Given the description of an element on the screen output the (x, y) to click on. 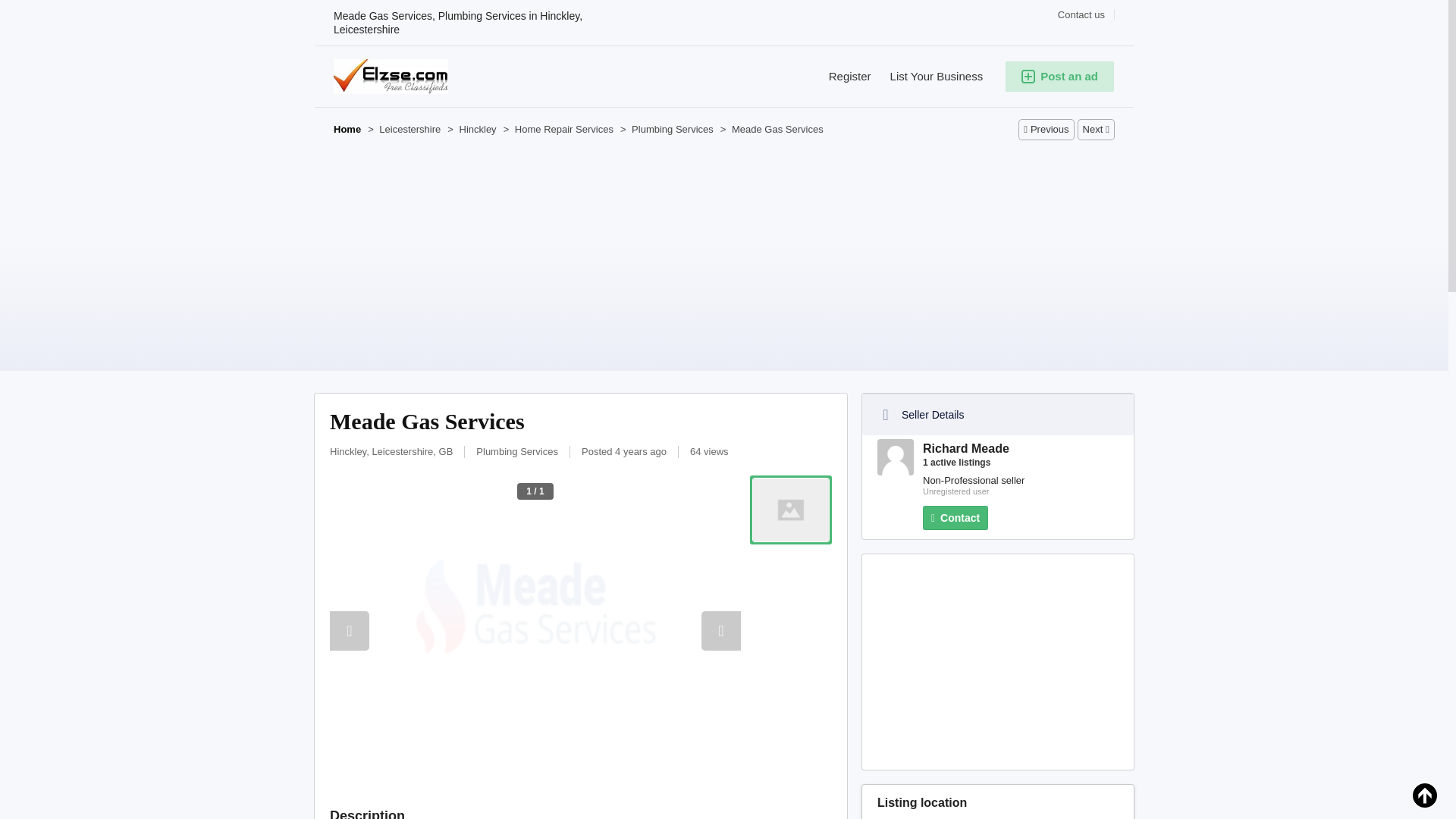
Post an ad (1059, 76)
Home Repair Services (562, 129)
Contact us (1081, 14)
Previous (1045, 129)
Register (839, 76)
Leicestershire (408, 129)
Home (347, 129)
Hinckley (476, 129)
List Your Business (927, 76)
Plumbing Services (670, 129)
